Given the description of an element on the screen output the (x, y) to click on. 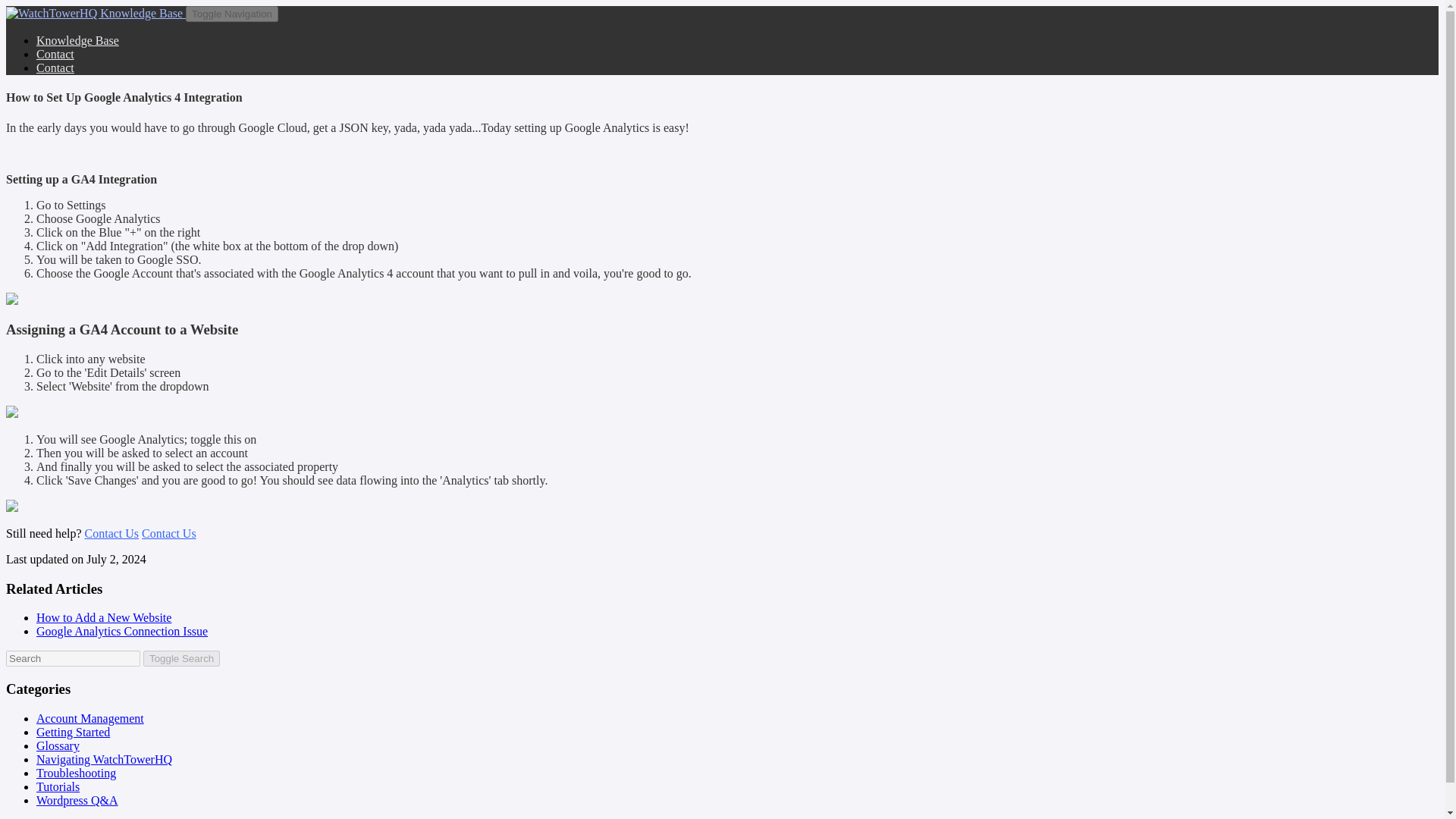
Glossary (58, 745)
Google Analytics Connection Issue (122, 631)
Troubleshooting (76, 772)
Toggle Search (180, 658)
Contact Us (168, 533)
Navigating WatchTowerHQ (103, 758)
How to Add a New Website (103, 617)
Getting Started (73, 731)
Account Management (90, 717)
Toggle Navigation (232, 13)
Knowledge Base (77, 40)
Contact (55, 67)
Contact (55, 53)
search-query (72, 658)
Contact Us (111, 533)
